Given the description of an element on the screen output the (x, y) to click on. 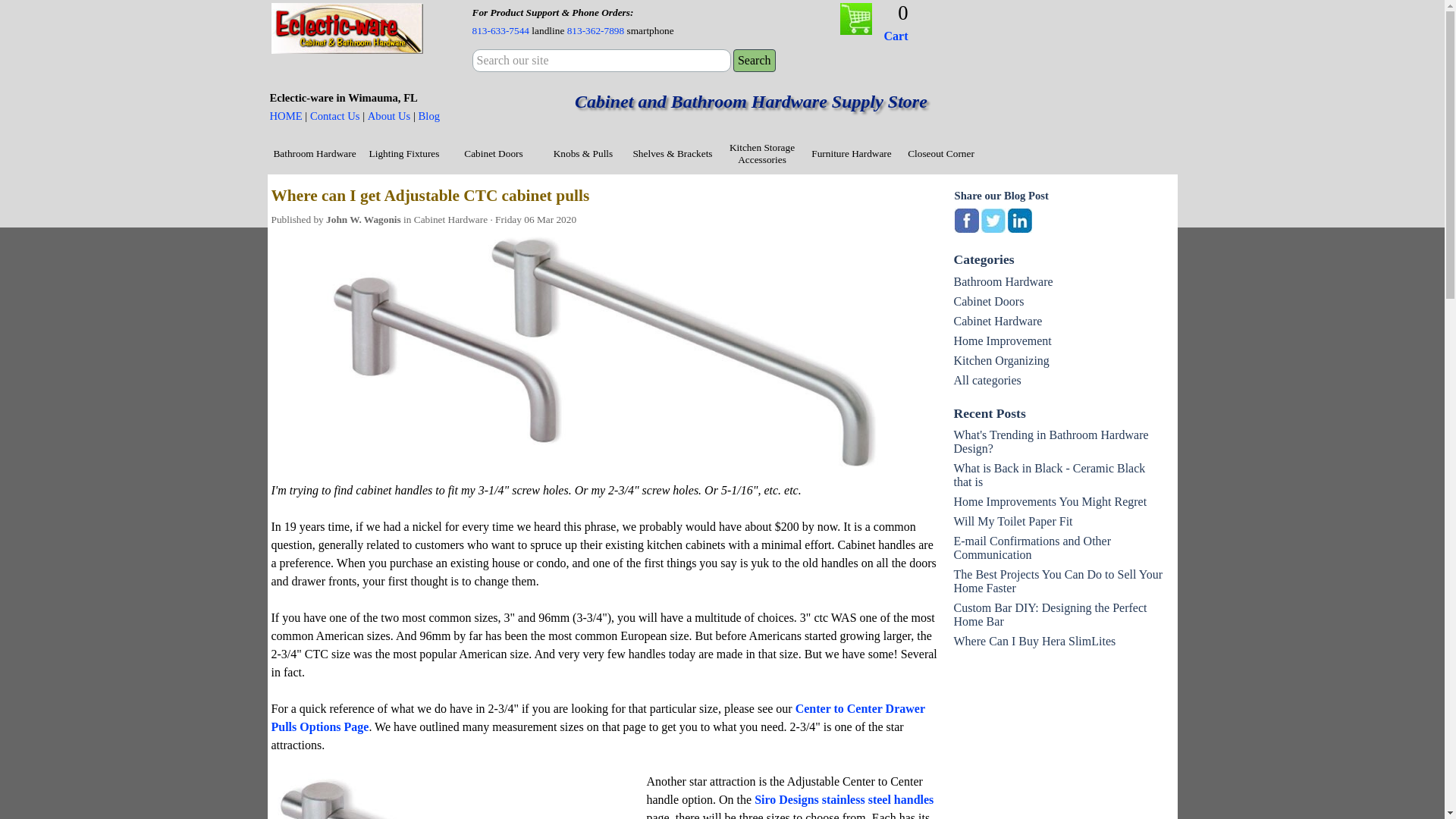
Share our page on Facebook (965, 220)
HOME (285, 115)
Bathroom Hardware (314, 153)
Blog (430, 115)
About Us (389, 115)
Lighting Fixtures (404, 153)
Shopping Cart (856, 19)
Contact Us (334, 115)
Cabinet Doors (493, 153)
Kitchen Storage Accessories (762, 153)
Tweet about Eclectic-ware (993, 220)
813-362-7898 (595, 30)
813-633-7544 (500, 30)
Share us on LinkedIn (1019, 220)
